Given the description of an element on the screen output the (x, y) to click on. 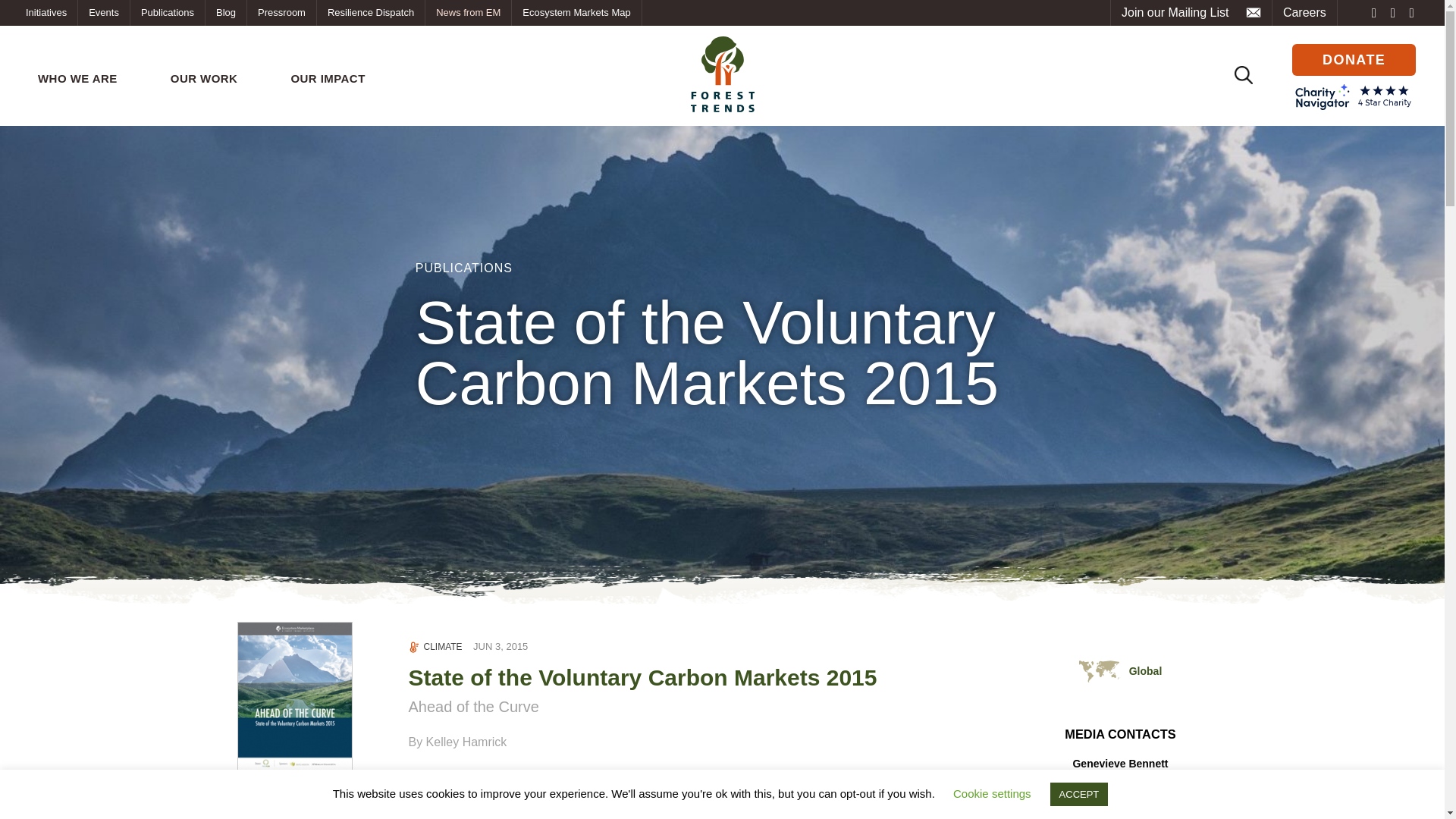
Search for: (1244, 74)
WHO WE ARE (77, 78)
News from EM (468, 12)
OUR WORK (204, 78)
Blog (225, 12)
Ecosystem Markets Map (576, 12)
Events (103, 12)
Initiatives (45, 12)
Careers (1304, 12)
Pressroom (281, 12)
OUR IMPACT (327, 78)
Publications (168, 12)
Resilience Dispatch (371, 12)
